Given the description of an element on the screen output the (x, y) to click on. 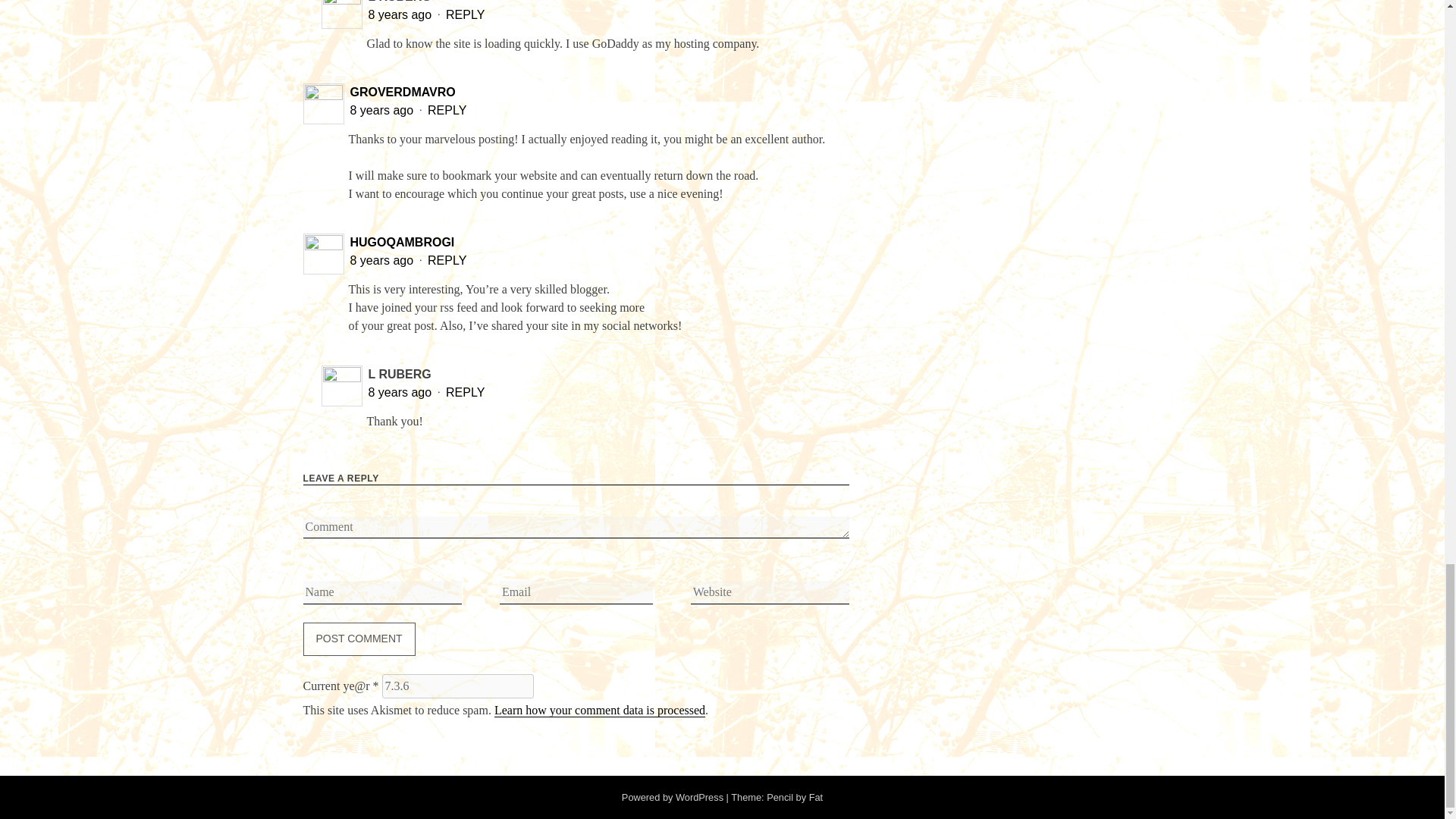
8 years ago (383, 259)
8 years ago (401, 391)
Post Comment (358, 639)
HUGOQAMBROGI (402, 241)
REPLY (446, 110)
REPLY (446, 259)
7.3.6 (457, 686)
8 years ago (383, 110)
REPLY (464, 14)
GROVERDMAVRO (402, 91)
REPLY (464, 391)
8 years ago (401, 14)
Post Comment (358, 639)
